Given the description of an element on the screen output the (x, y) to click on. 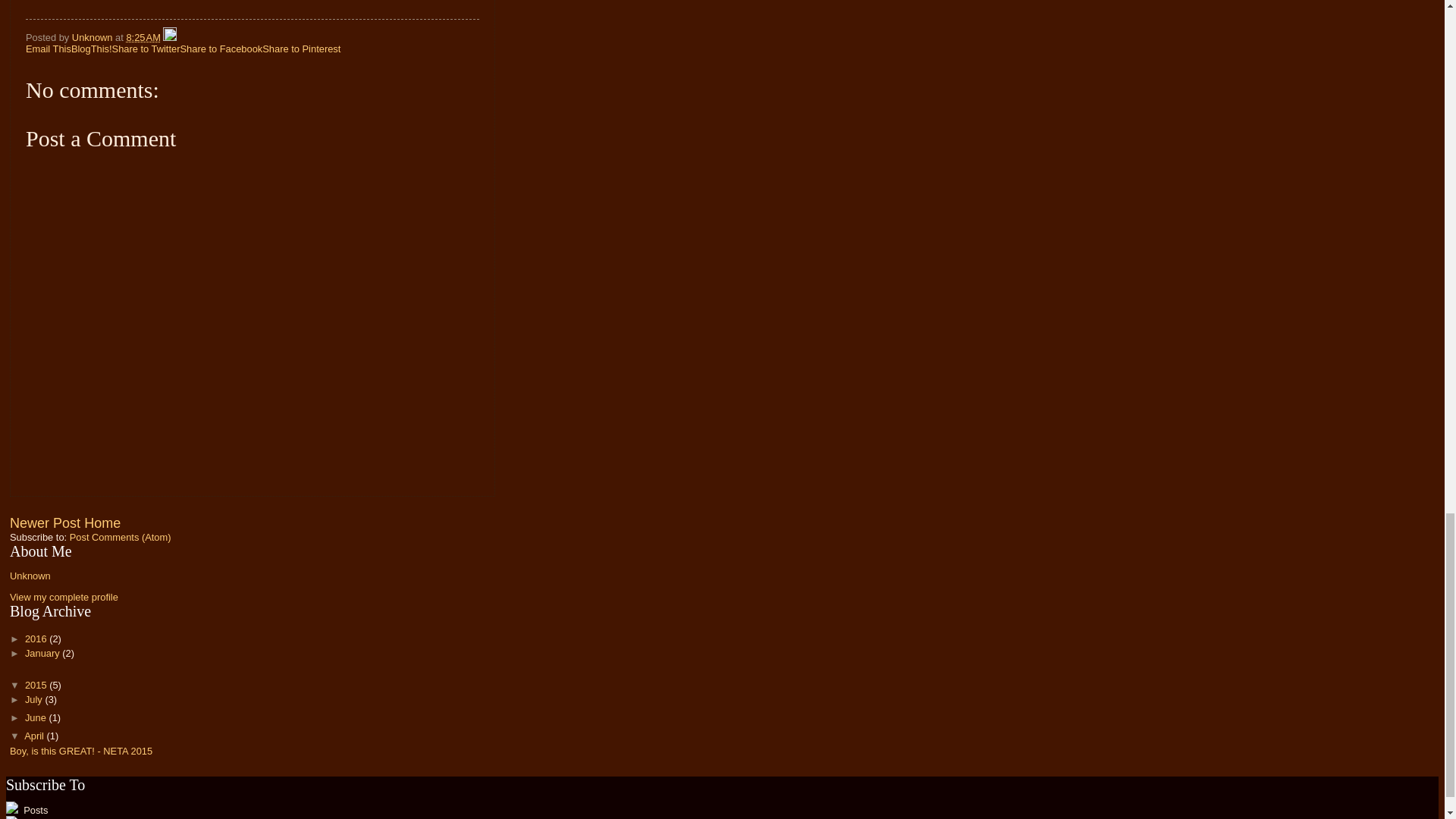
Home (102, 522)
View my complete profile (63, 596)
author profile (93, 37)
Boy, is this GREAT! - NETA 2015 (81, 750)
April (35, 736)
BlogThis! (91, 48)
July (34, 699)
January (43, 653)
2015 (36, 685)
Share to Twitter (146, 48)
Unknown (30, 575)
permanent link (142, 37)
Newer Post (45, 522)
Edit Post (169, 37)
